Given the description of an element on the screen output the (x, y) to click on. 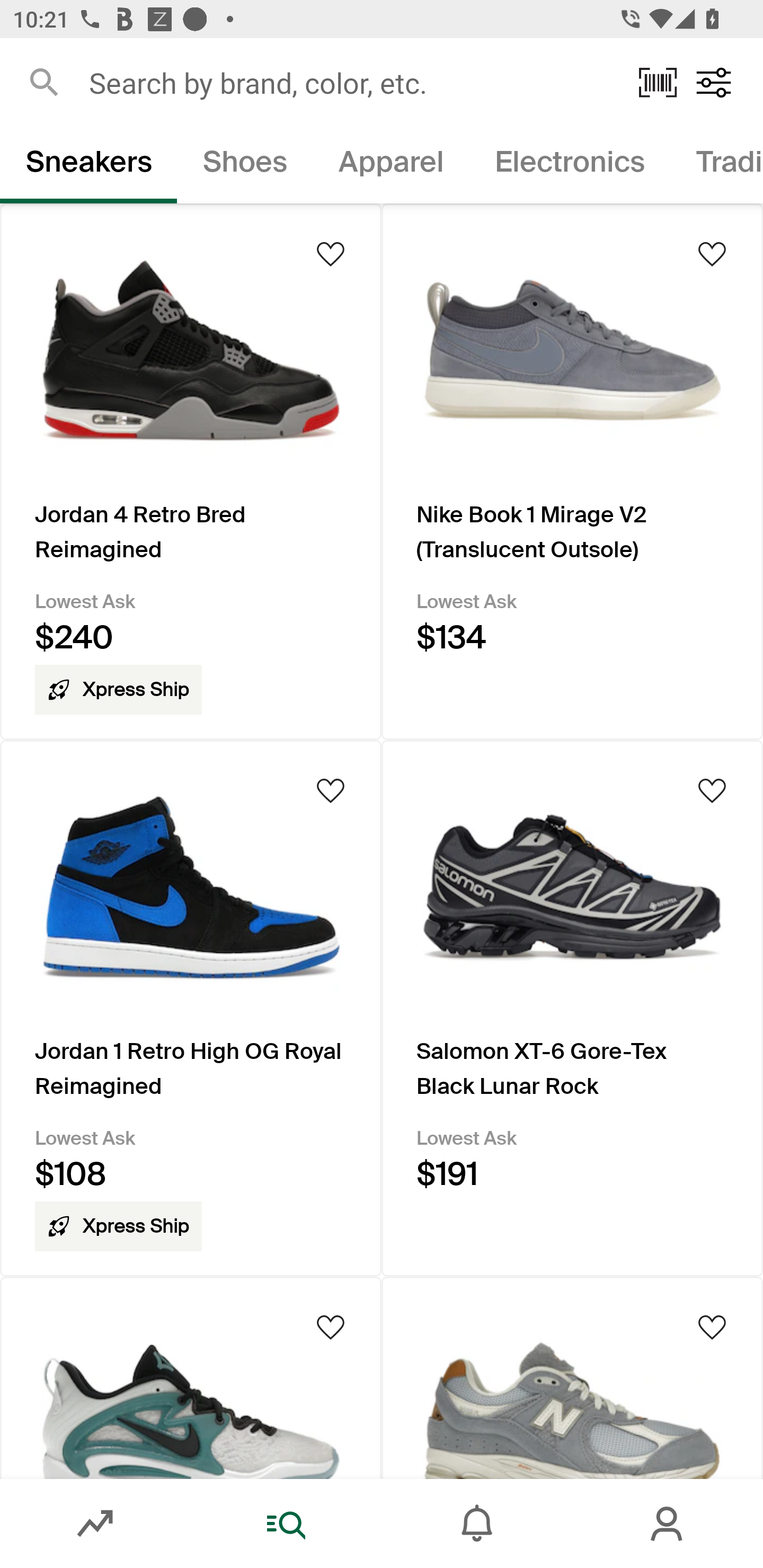
Search by brand, color, etc. (351, 82)
Shoes (244, 165)
Apparel (390, 165)
Electronics (569, 165)
Trading Cards (716, 165)
Product Image (190, 1377)
Product Image (572, 1377)
Market (95, 1523)
Inbox (476, 1523)
Account (667, 1523)
